Given the description of an element on the screen output the (x, y) to click on. 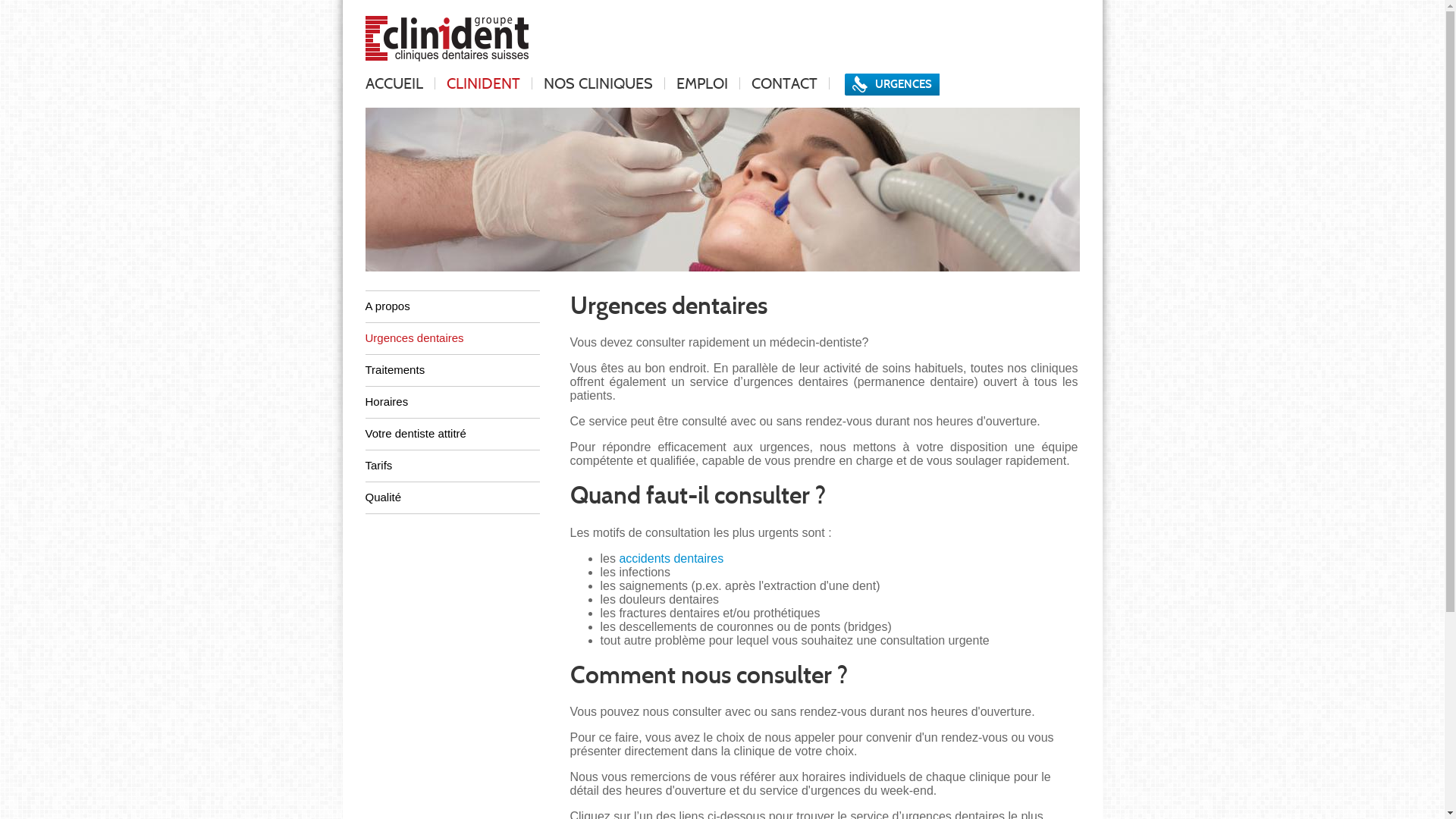
EMPLOI Element type: text (701, 83)
CONTACT Element type: text (784, 83)
Tarifs Element type: text (452, 465)
ACCUEIL Element type: text (399, 83)
Horaires Element type: text (452, 401)
A propos Element type: text (452, 306)
CLINIDENT Element type: text (483, 83)
Urgences dentaires Element type: text (452, 338)
URGENCES Element type: text (891, 83)
accidents dentaires Element type: text (670, 558)
NOS CLINIQUES Element type: text (598, 83)
Traitements Element type: text (452, 369)
